Given the description of an element on the screen output the (x, y) to click on. 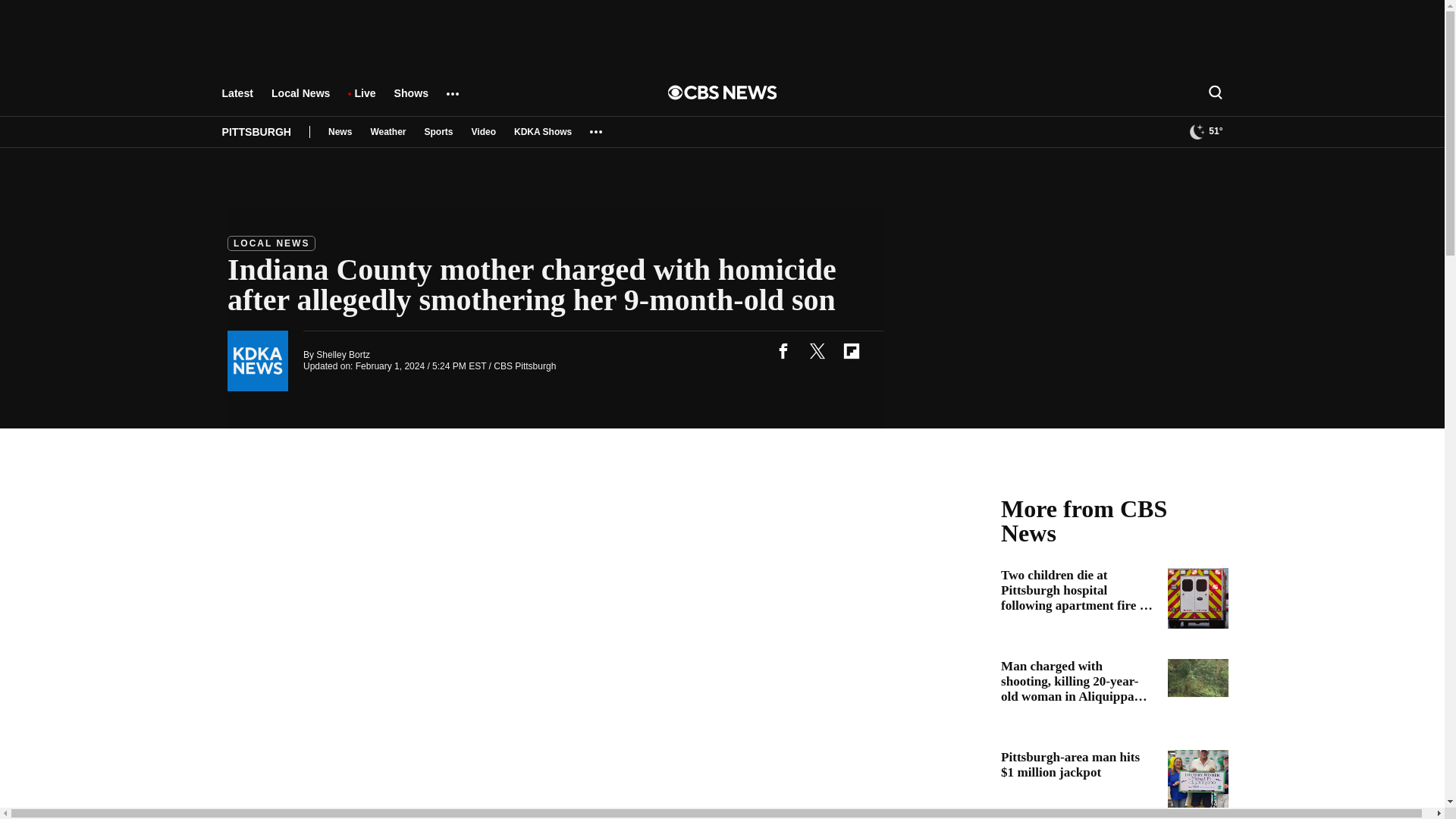
Local News (300, 100)
flipboard (850, 350)
twitter (816, 350)
facebook (782, 350)
Latest (236, 100)
